Given the description of an element on the screen output the (x, y) to click on. 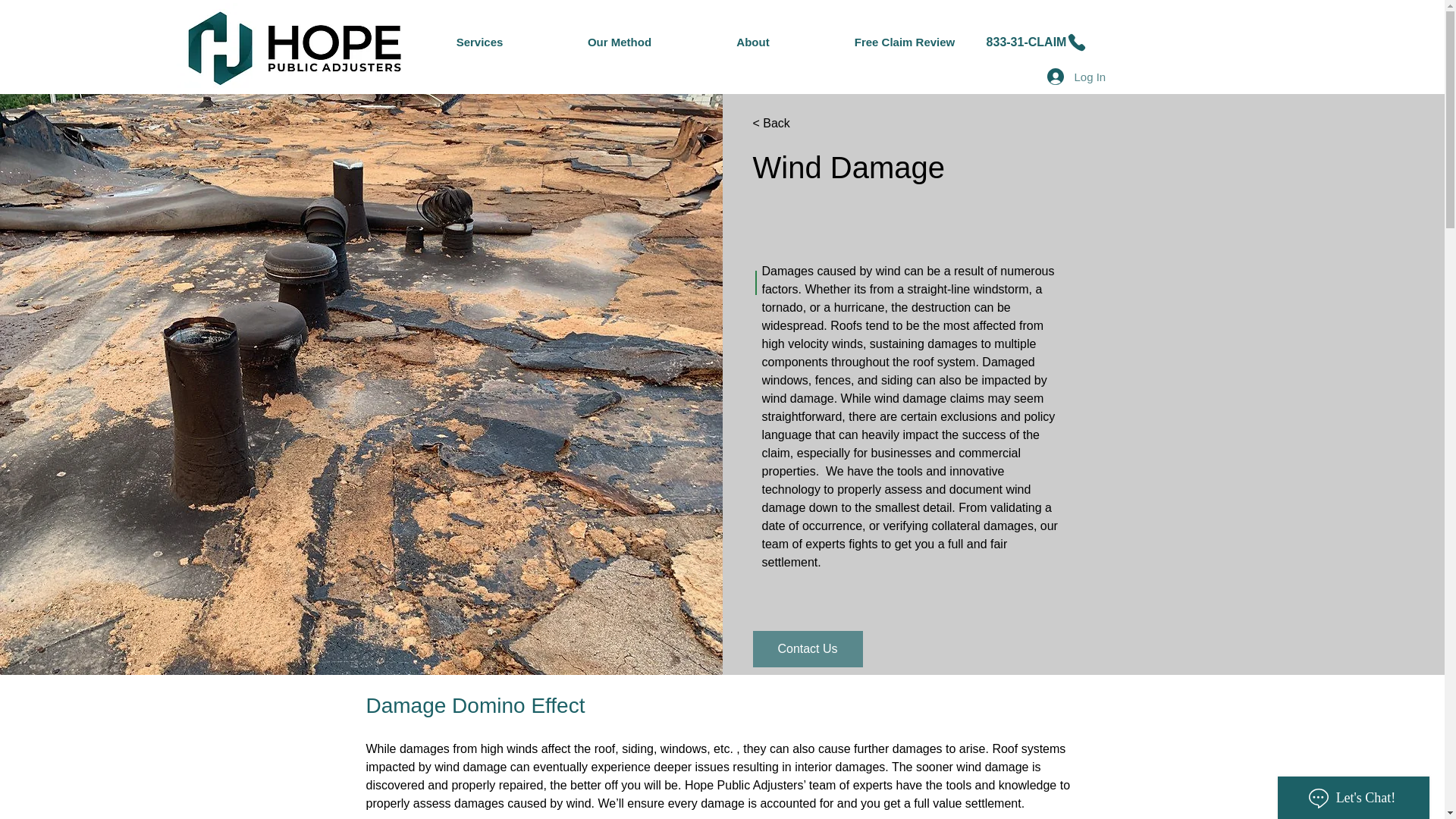
About (752, 42)
Free Claim Review (904, 42)
Contact Us (806, 648)
Our Method (619, 42)
Log In (1064, 76)
833-31-CLAIM (1037, 42)
